Given the description of an element on the screen output the (x, y) to click on. 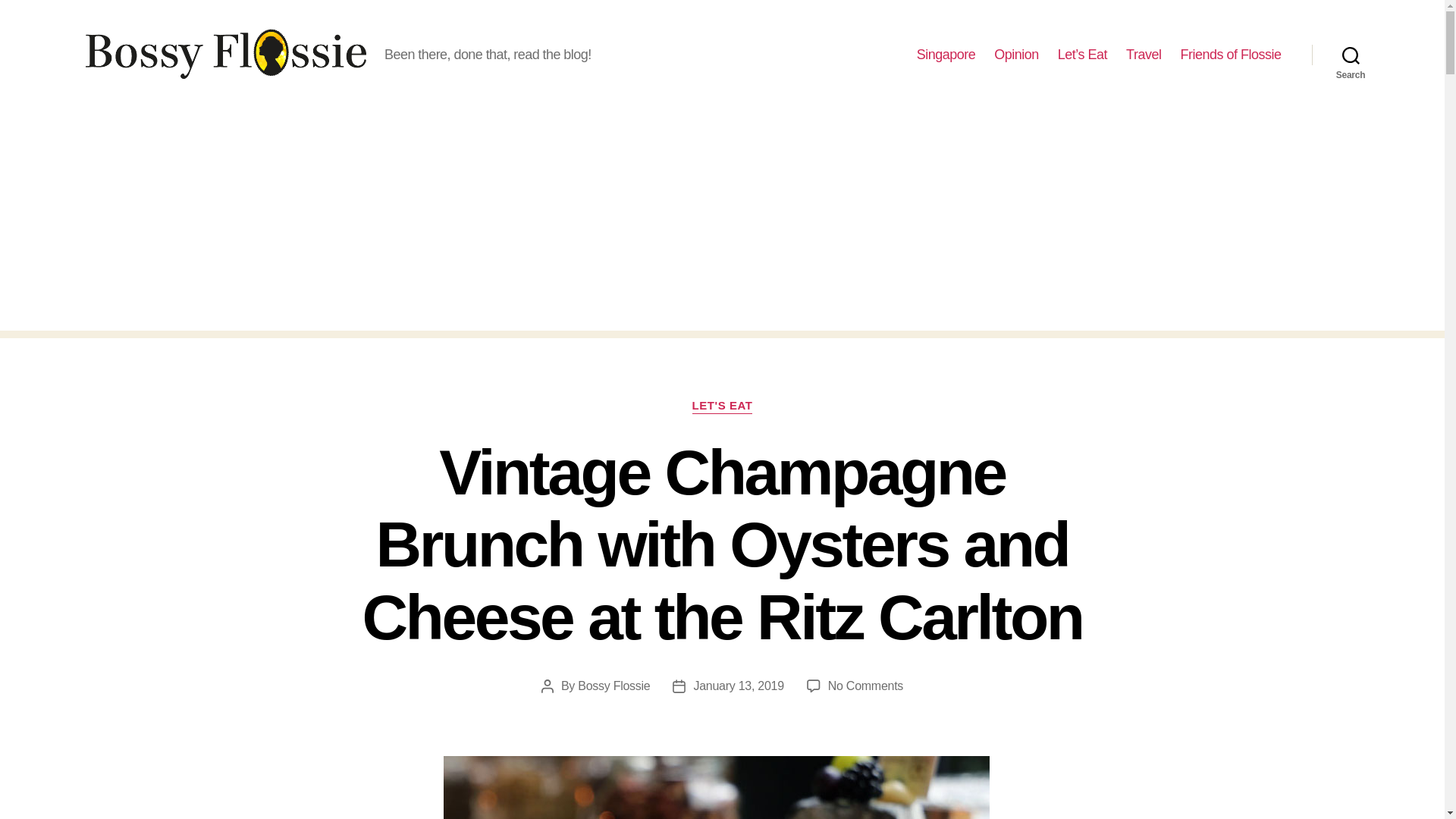
Opinion (1016, 54)
Travel (1142, 54)
Bossy Flossie (613, 685)
Search (1350, 55)
Singapore (946, 54)
January 13, 2019 (738, 685)
LET'S EAT (722, 406)
Friends of Flossie (1230, 54)
